Given the description of an element on the screen output the (x, y) to click on. 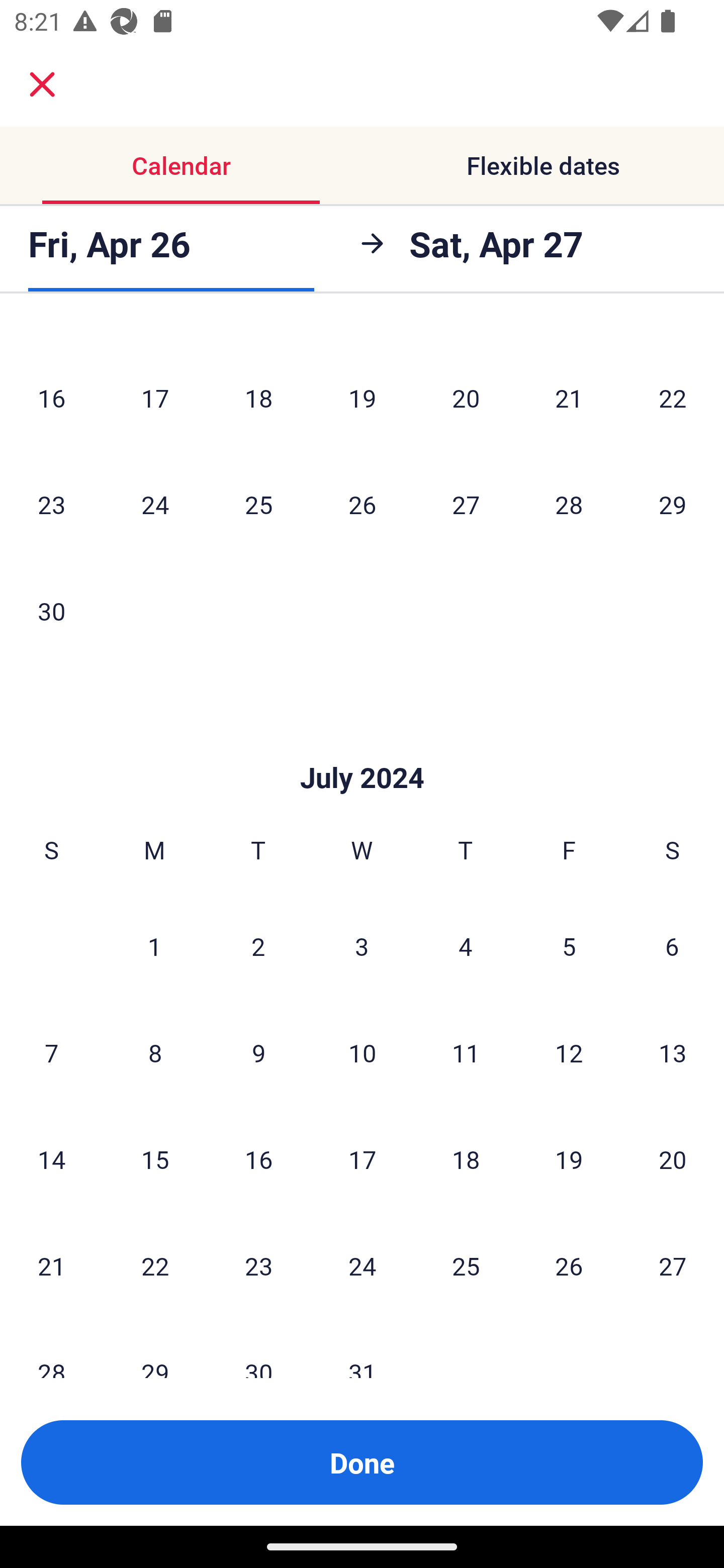
close. (42, 84)
Flexible dates (542, 164)
16 Sunday, June 16, 2024 (51, 398)
17 Monday, June 17, 2024 (155, 398)
18 Tuesday, June 18, 2024 (258, 398)
19 Wednesday, June 19, 2024 (362, 398)
20 Thursday, June 20, 2024 (465, 398)
21 Friday, June 21, 2024 (569, 398)
22 Saturday, June 22, 2024 (672, 398)
23 Sunday, June 23, 2024 (51, 504)
24 Monday, June 24, 2024 (155, 504)
25 Tuesday, June 25, 2024 (258, 504)
26 Wednesday, June 26, 2024 (362, 504)
27 Thursday, June 27, 2024 (465, 504)
28 Friday, June 28, 2024 (569, 504)
29 Saturday, June 29, 2024 (672, 504)
30 Sunday, June 30, 2024 (51, 610)
Skip to Done (362, 747)
1 Monday, July 1, 2024 (154, 946)
2 Tuesday, July 2, 2024 (257, 946)
3 Wednesday, July 3, 2024 (361, 946)
4 Thursday, July 4, 2024 (465, 946)
5 Friday, July 5, 2024 (568, 946)
6 Saturday, July 6, 2024 (672, 946)
7 Sunday, July 7, 2024 (51, 1051)
8 Monday, July 8, 2024 (155, 1051)
9 Tuesday, July 9, 2024 (258, 1051)
10 Wednesday, July 10, 2024 (362, 1051)
11 Thursday, July 11, 2024 (465, 1051)
12 Friday, July 12, 2024 (569, 1051)
13 Saturday, July 13, 2024 (672, 1051)
14 Sunday, July 14, 2024 (51, 1158)
15 Monday, July 15, 2024 (155, 1158)
16 Tuesday, July 16, 2024 (258, 1158)
17 Wednesday, July 17, 2024 (362, 1158)
18 Thursday, July 18, 2024 (465, 1158)
19 Friday, July 19, 2024 (569, 1158)
20 Saturday, July 20, 2024 (672, 1158)
21 Sunday, July 21, 2024 (51, 1265)
22 Monday, July 22, 2024 (155, 1265)
23 Tuesday, July 23, 2024 (258, 1265)
24 Wednesday, July 24, 2024 (362, 1265)
25 Thursday, July 25, 2024 (465, 1265)
26 Friday, July 26, 2024 (569, 1265)
27 Saturday, July 27, 2024 (672, 1265)
Done (361, 1462)
